Given the description of an element on the screen output the (x, y) to click on. 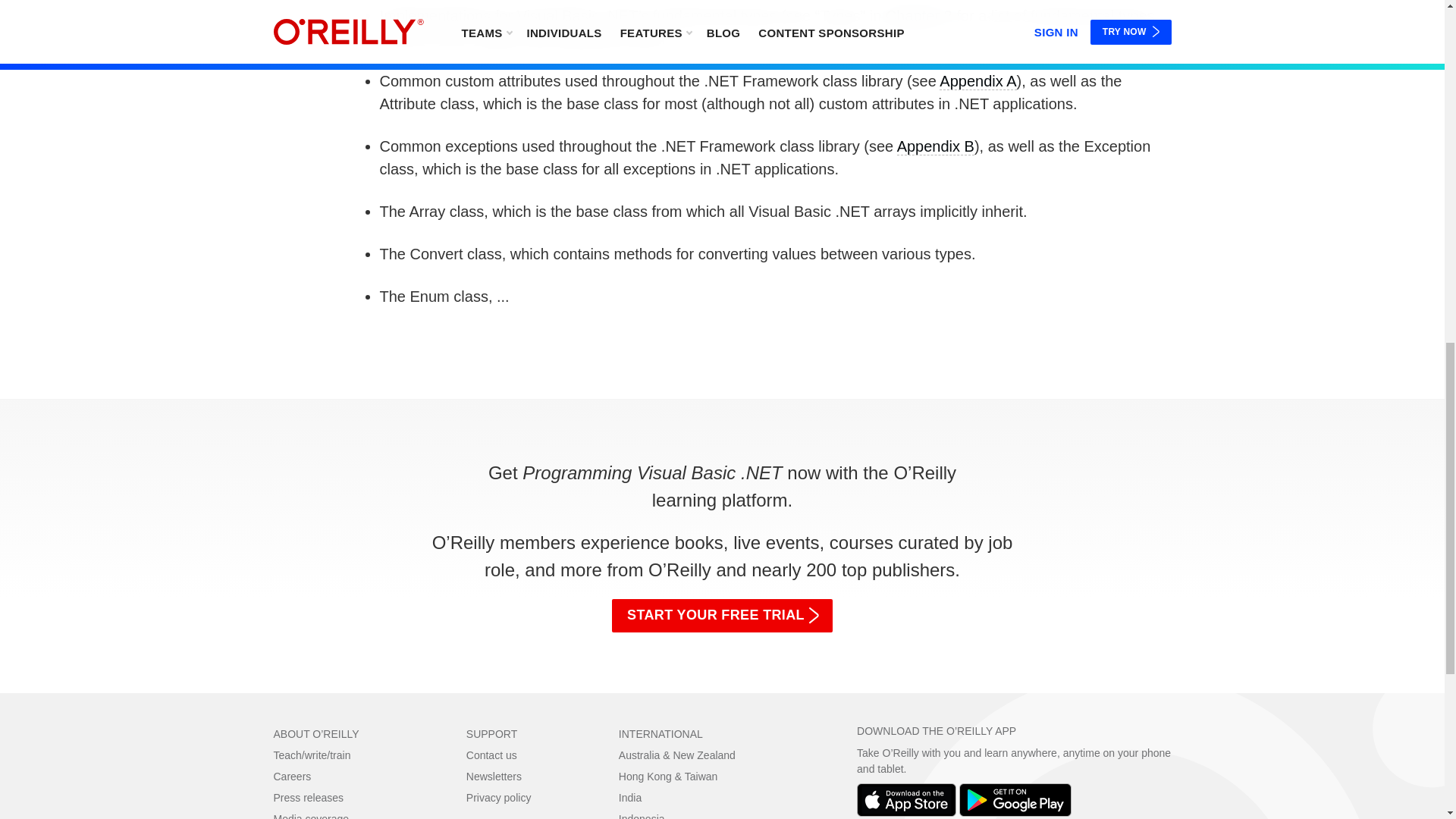
Chapter 2 (918, 16)
Appendix A (977, 81)
START YOUR FREE TRIAL (721, 615)
Press releases (308, 797)
Media coverage (311, 816)
SUPPORT (490, 734)
Careers (292, 776)
Appendix B (935, 146)
